Given the description of an element on the screen output the (x, y) to click on. 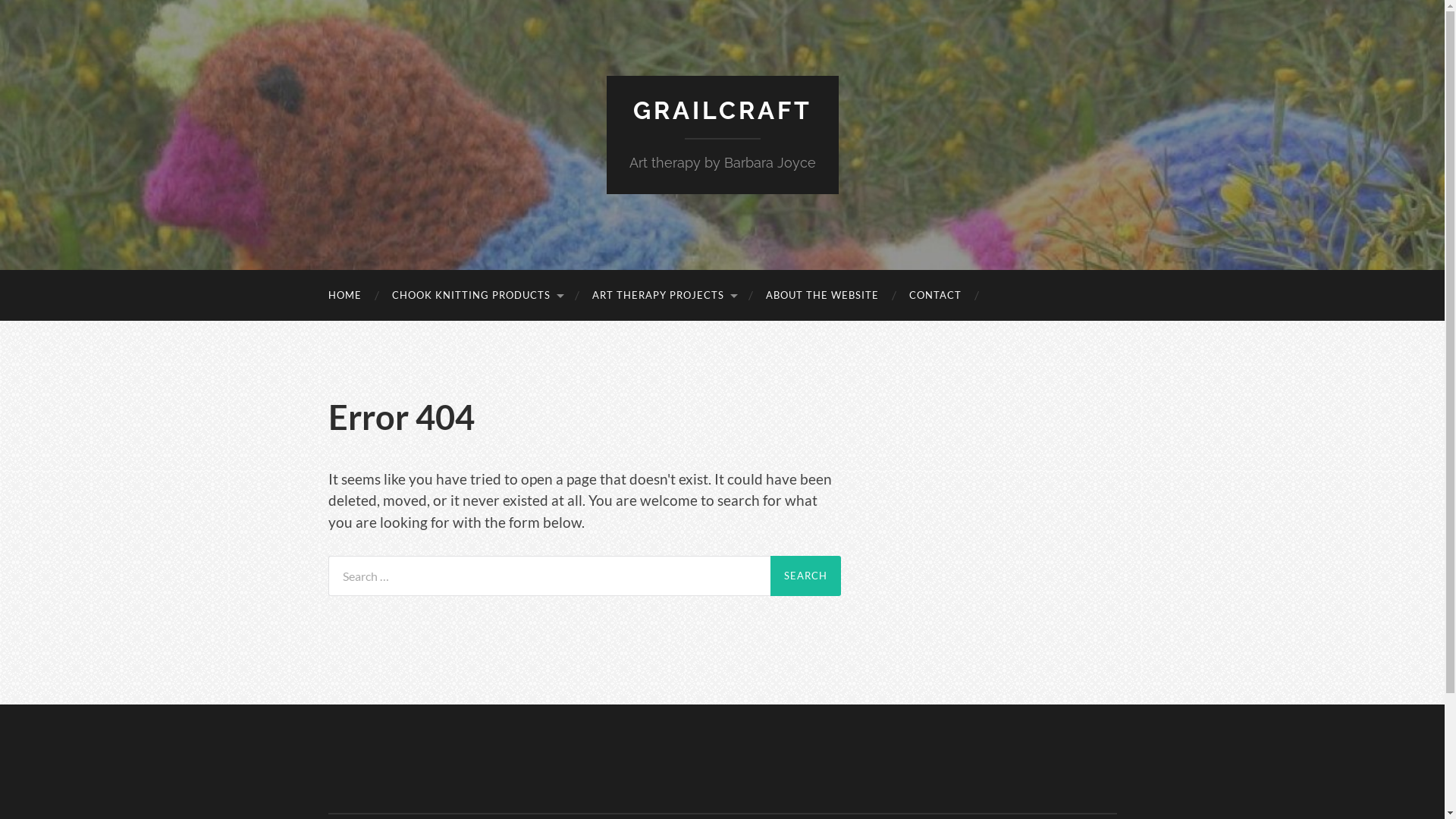
CONTACT Element type: text (934, 294)
Search Element type: text (805, 575)
GRAILCRAFT Element type: text (721, 110)
ART THERAPY PROJECTS Element type: text (662, 294)
CHOOK KNITTING PRODUCTS Element type: text (476, 294)
ABOUT THE WEBSITE Element type: text (822, 294)
HOME Element type: text (344, 294)
